Given the description of an element on the screen output the (x, y) to click on. 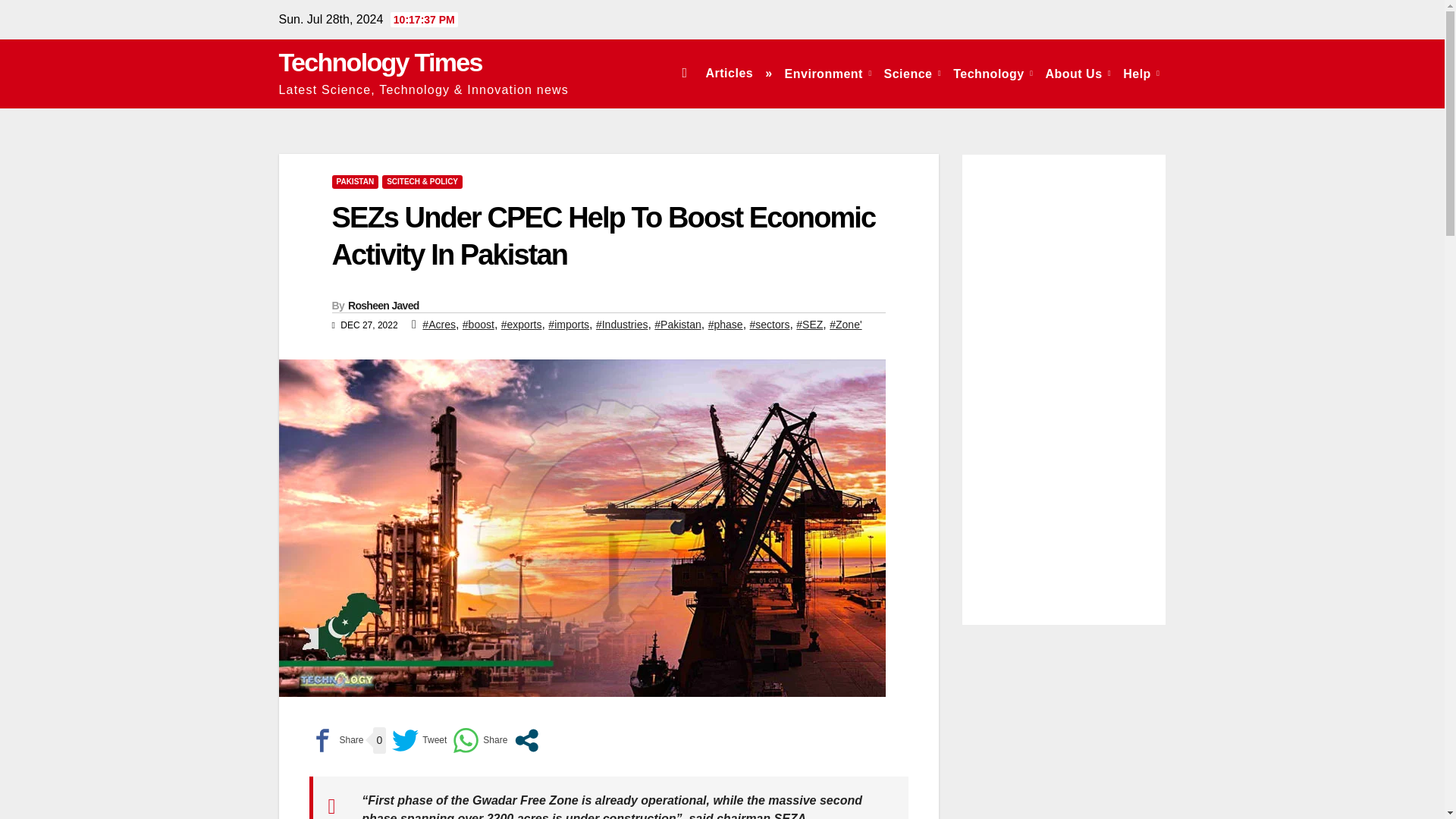
Science (912, 73)
Technology (993, 73)
Technology (993, 73)
About Us (1077, 73)
Science (912, 73)
Environment (827, 73)
Technology Times (380, 61)
Environment (827, 73)
